Given the description of an element on the screen output the (x, y) to click on. 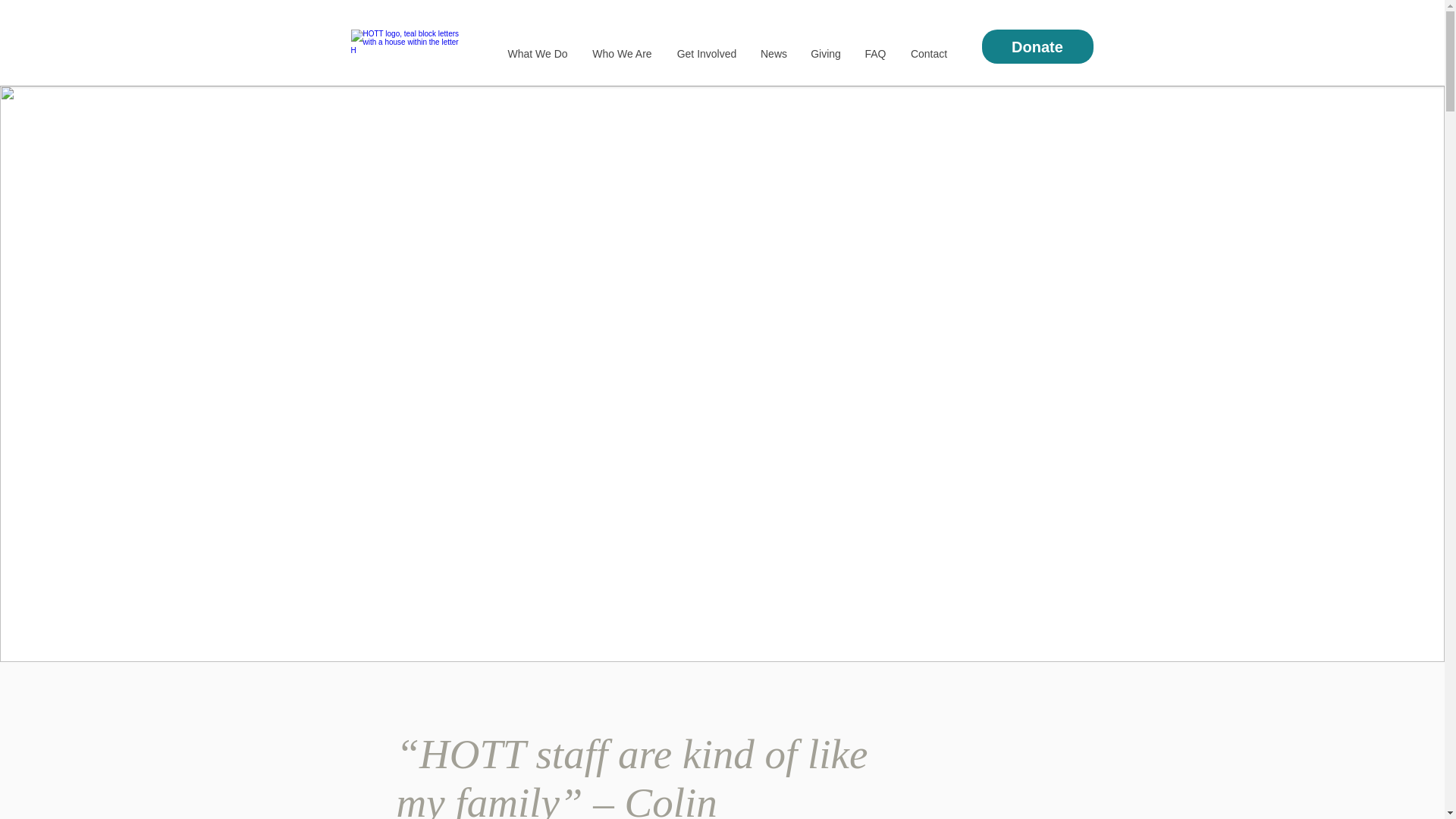
Contact (928, 53)
Giving (824, 53)
Get Involved (705, 53)
FAQ (874, 53)
Who We Are (621, 53)
Donate (1037, 46)
What We Do (537, 53)
News (772, 53)
